Given the description of an element on the screen output the (x, y) to click on. 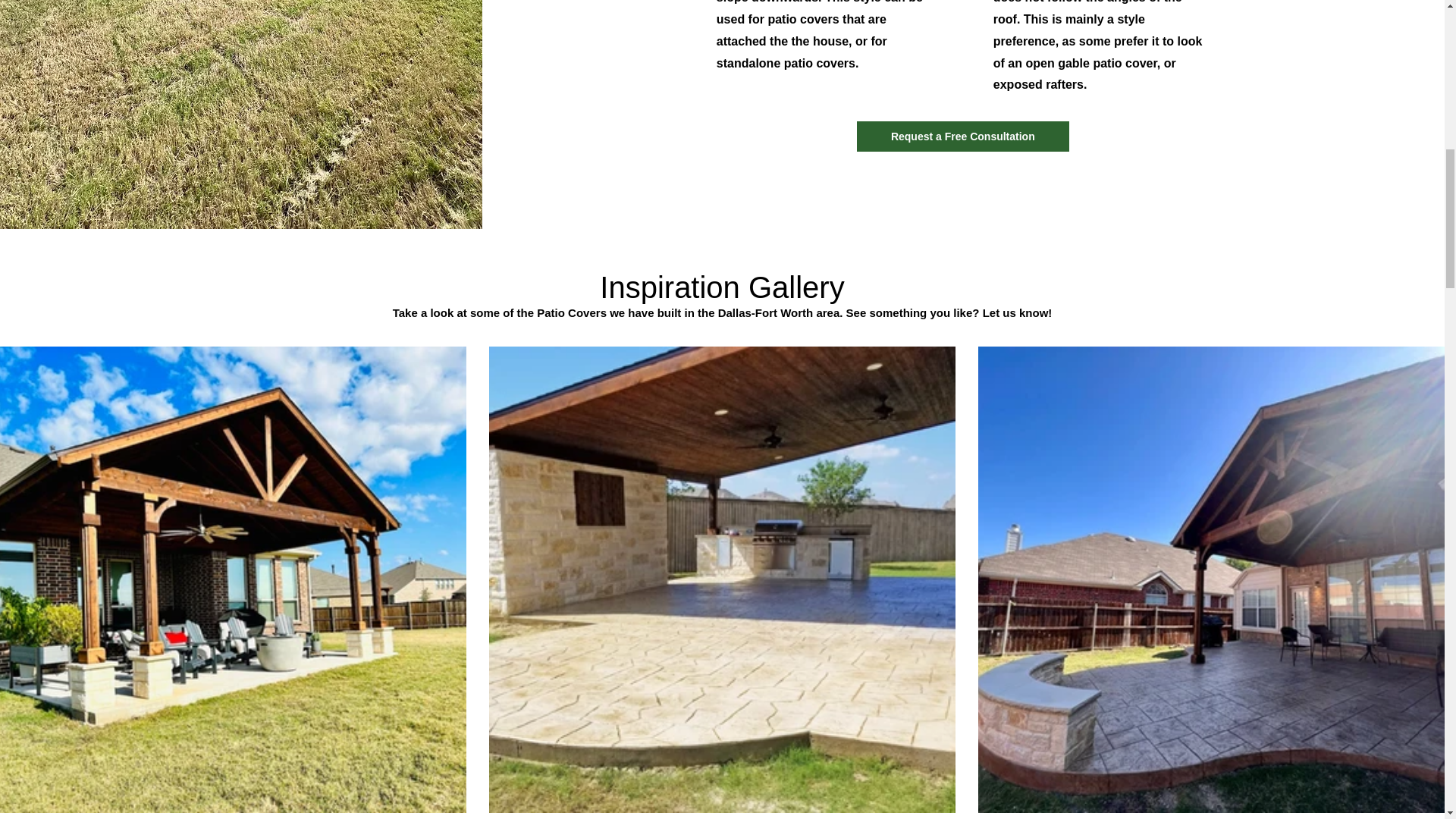
Request a Free Consultation (962, 136)
